Given the description of an element on the screen output the (x, y) to click on. 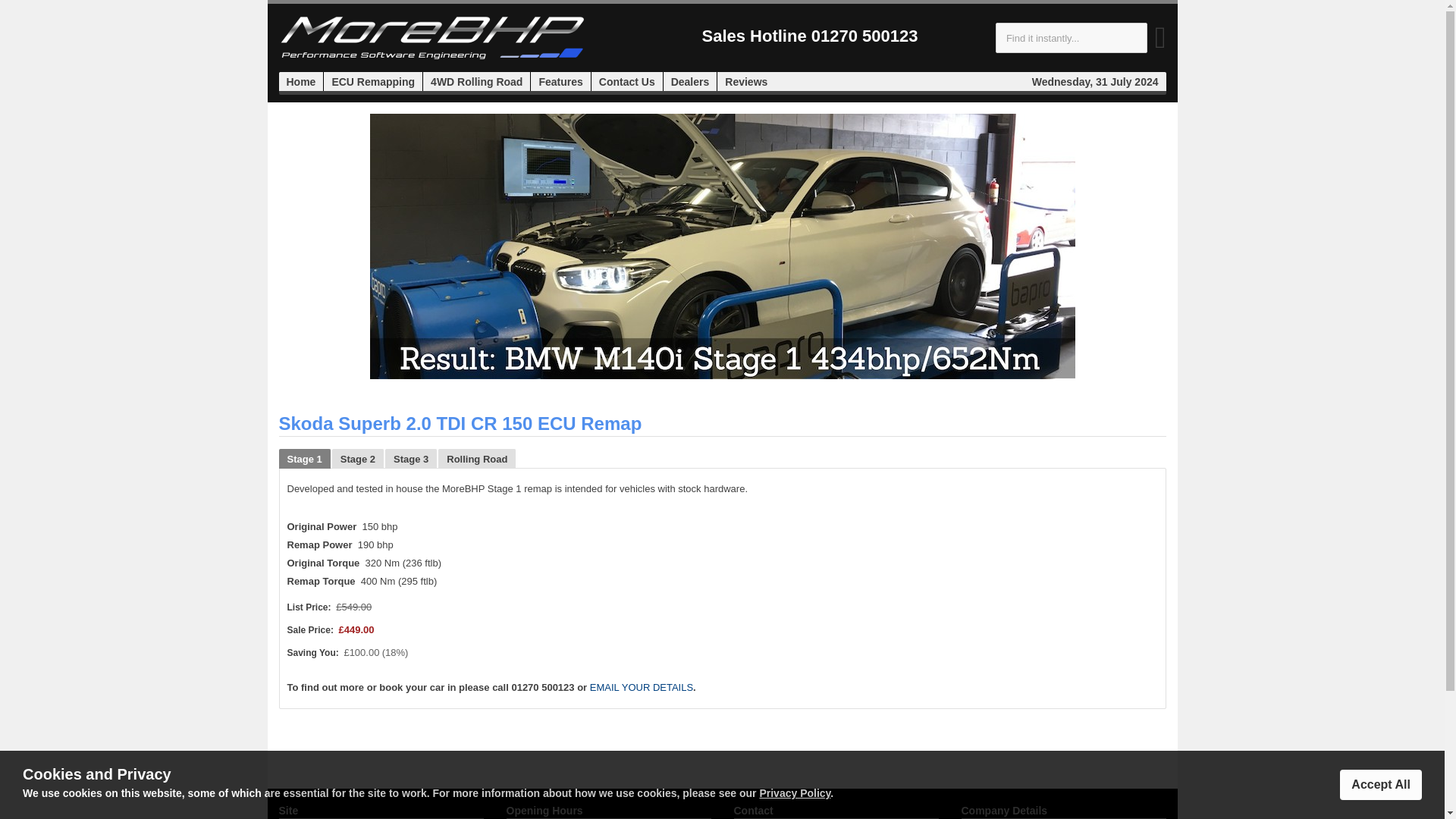
Home (300, 81)
ECU Remapping (372, 81)
Sales Hotline 01270 500123 (809, 38)
Reviews (746, 81)
4WD Rolling Road (476, 81)
Features (560, 81)
Stage 1 (304, 458)
Stage 2 (357, 458)
Dealers (690, 81)
Rolling Road (477, 458)
Go (1160, 43)
find out how good we are (746, 81)
EMAIL YOUR DETAILS (641, 686)
Stage 3 (410, 458)
Contact Us (626, 81)
